Given the description of an element on the screen output the (x, y) to click on. 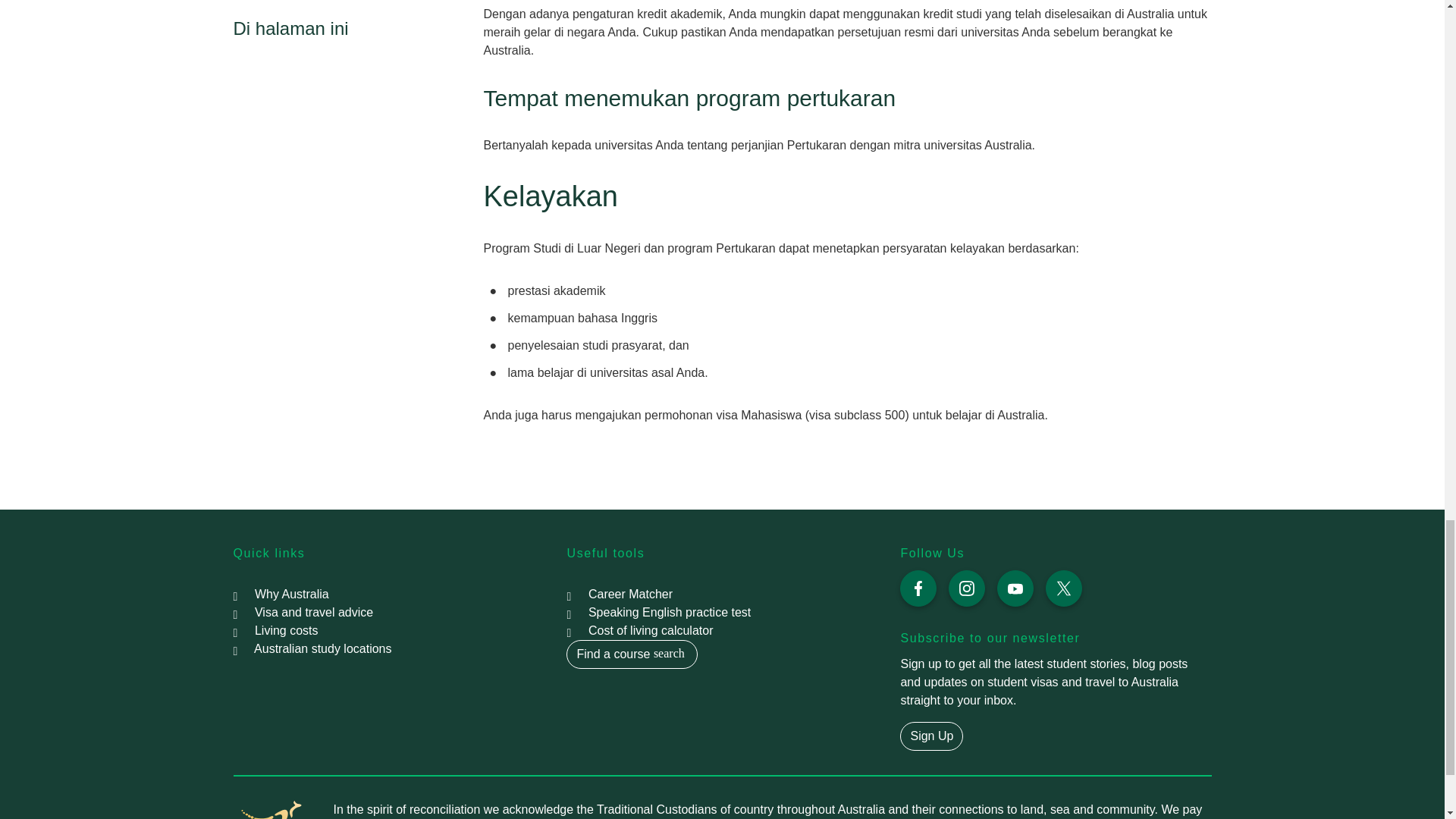
Facebook (917, 588)
YouTube (1015, 588)
Twitter (1063, 588)
Instagram (967, 588)
Facebook (918, 588)
